Given the description of an element on the screen output the (x, y) to click on. 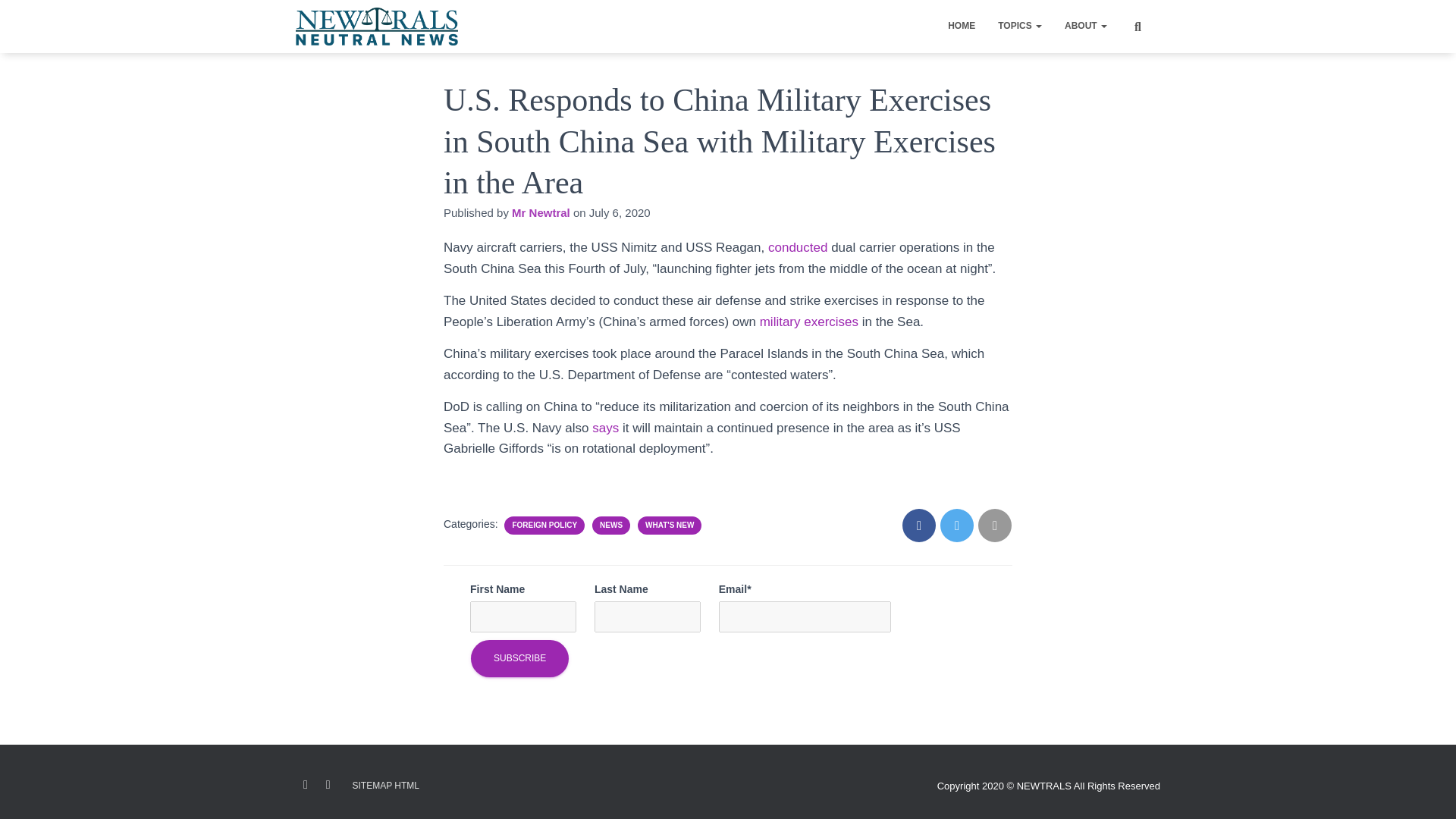
Newtrals (375, 26)
TOPICS (1019, 26)
About (1085, 26)
Subscribe (519, 658)
ABOUT (1085, 26)
WHAT'S NEW (669, 525)
says (605, 427)
Home (961, 26)
HOME (961, 26)
military exercises (809, 321)
